Given the description of an element on the screen output the (x, y) to click on. 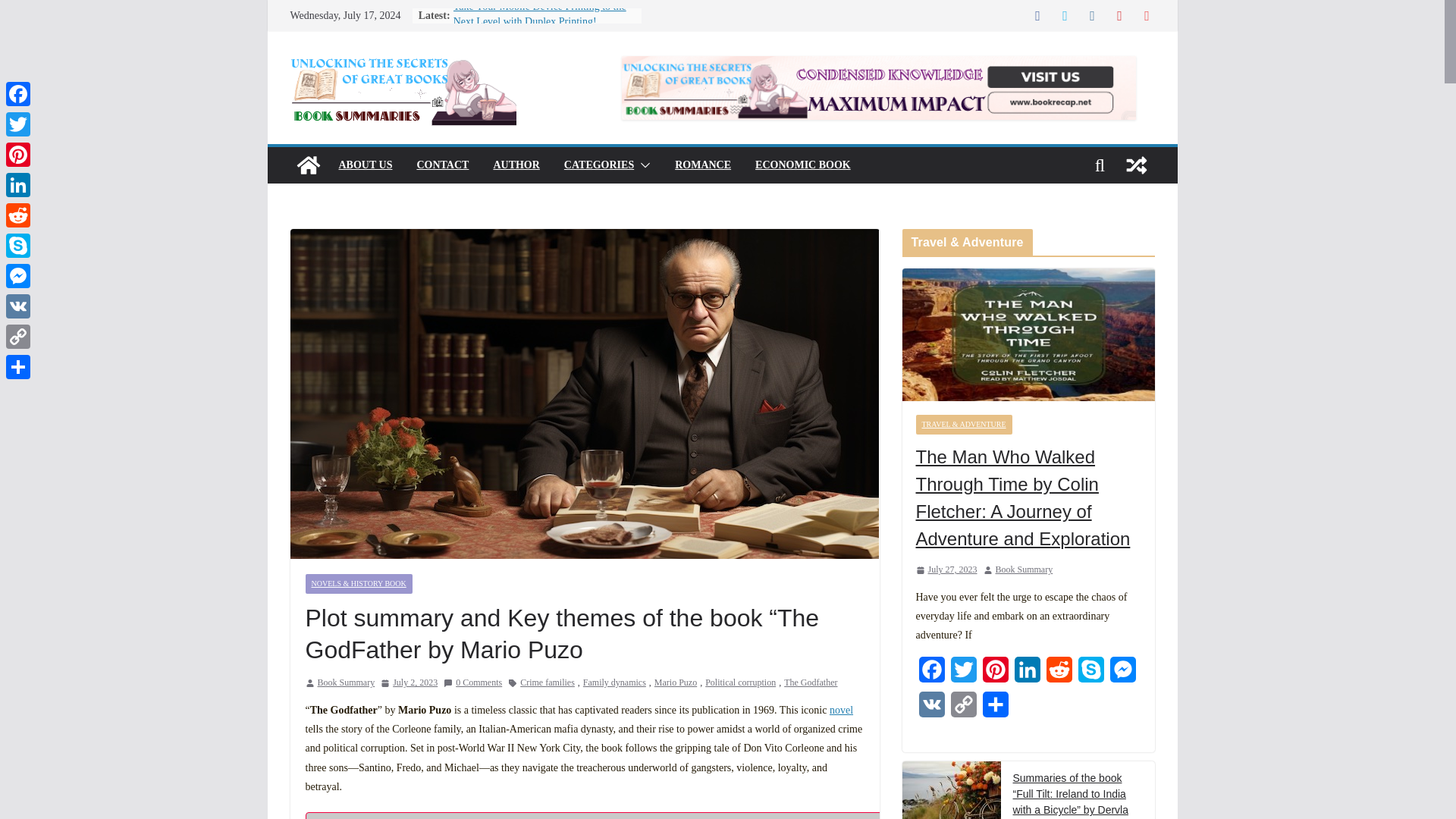
Book Summary (345, 682)
CATEGORIES (598, 165)
Political corruption (740, 682)
0 Comments (473, 682)
View a random post (1136, 165)
ROMANCE (702, 165)
Mario Puzo (675, 682)
July 2, 2023 (409, 682)
Book Summary (307, 165)
3:02 pm (409, 682)
Crime families (547, 682)
Book Summary (345, 682)
AUTHOR (515, 165)
